Given the description of an element on the screen output the (x, y) to click on. 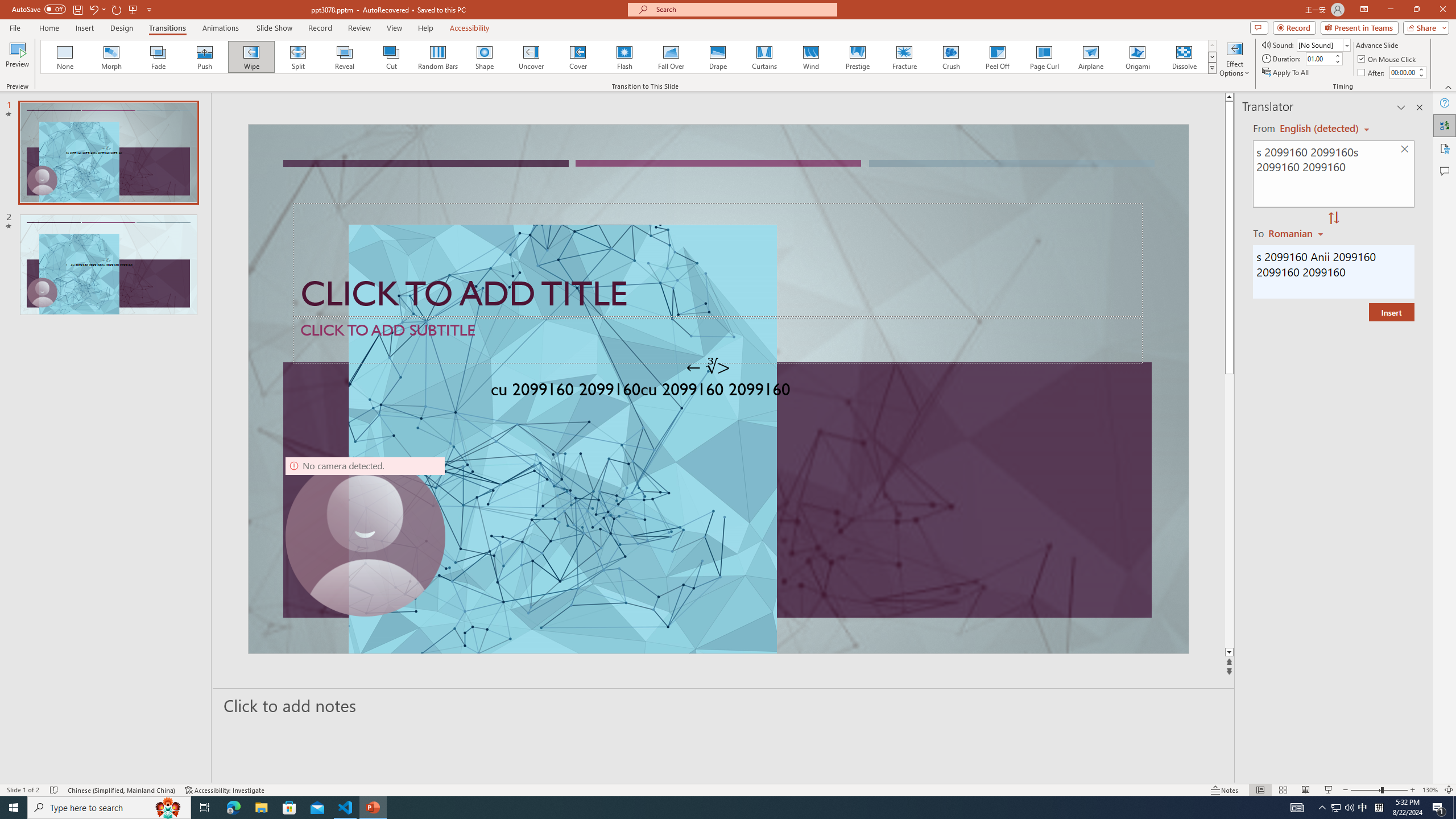
Drape (717, 56)
TextBox 7 (708, 367)
Wind (810, 56)
Transition Effects (1212, 67)
On Mouse Click (1387, 58)
